Given the description of an element on the screen output the (x, y) to click on. 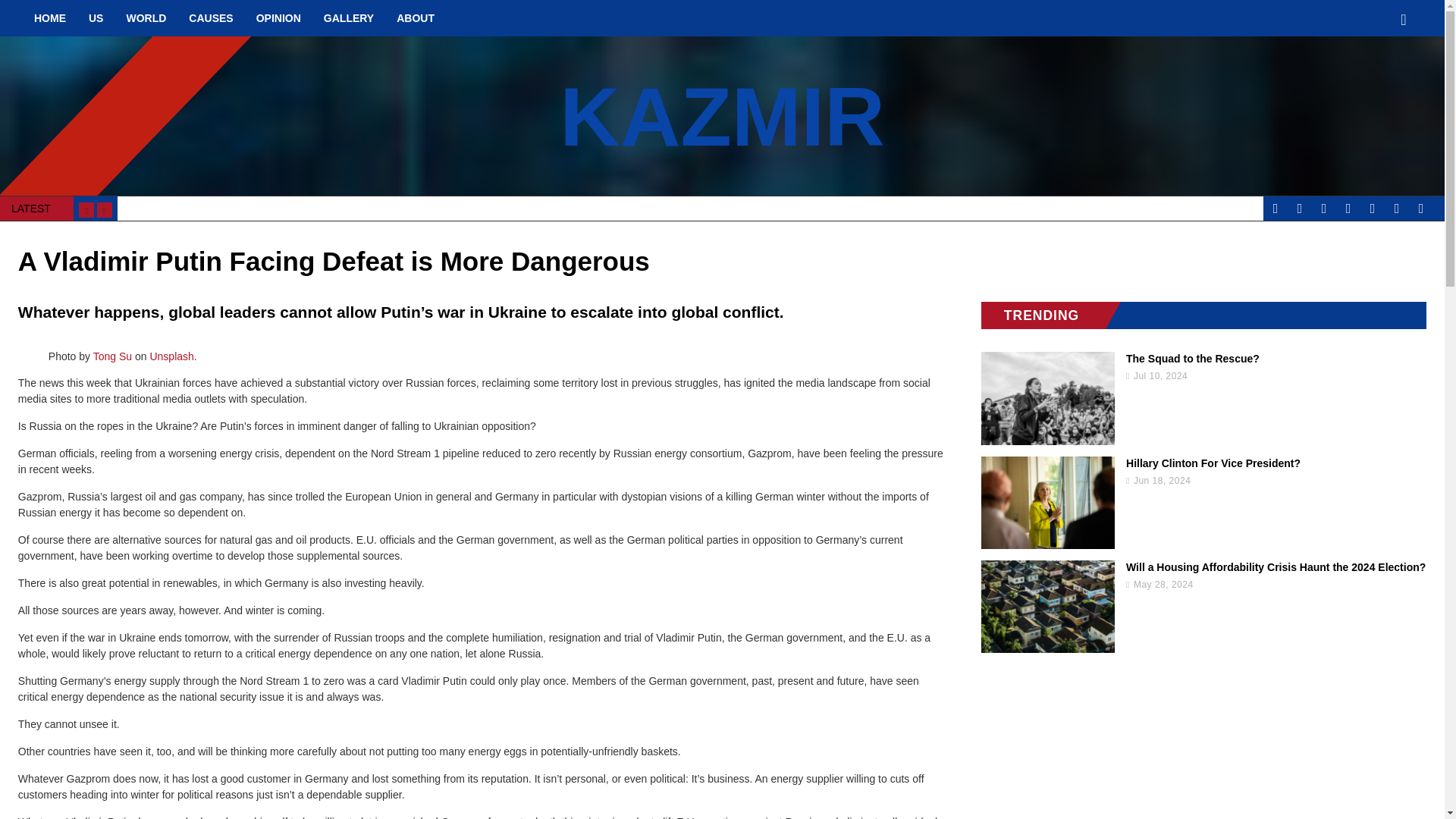
About (415, 18)
Hillary Clinton For Vice President? (1203, 463)
Causes (210, 18)
US (96, 18)
Kazmir (722, 115)
Will a Housing Affordability Crisis Haunt the 2024 Election? (1203, 567)
Tong Su (112, 356)
RSS (1371, 208)
US (96, 18)
The Squad to the Rescue? (1203, 358)
YouTube (1396, 208)
HOME (50, 18)
GALLERY (349, 18)
ABOUT (415, 18)
